Given the description of an element on the screen output the (x, y) to click on. 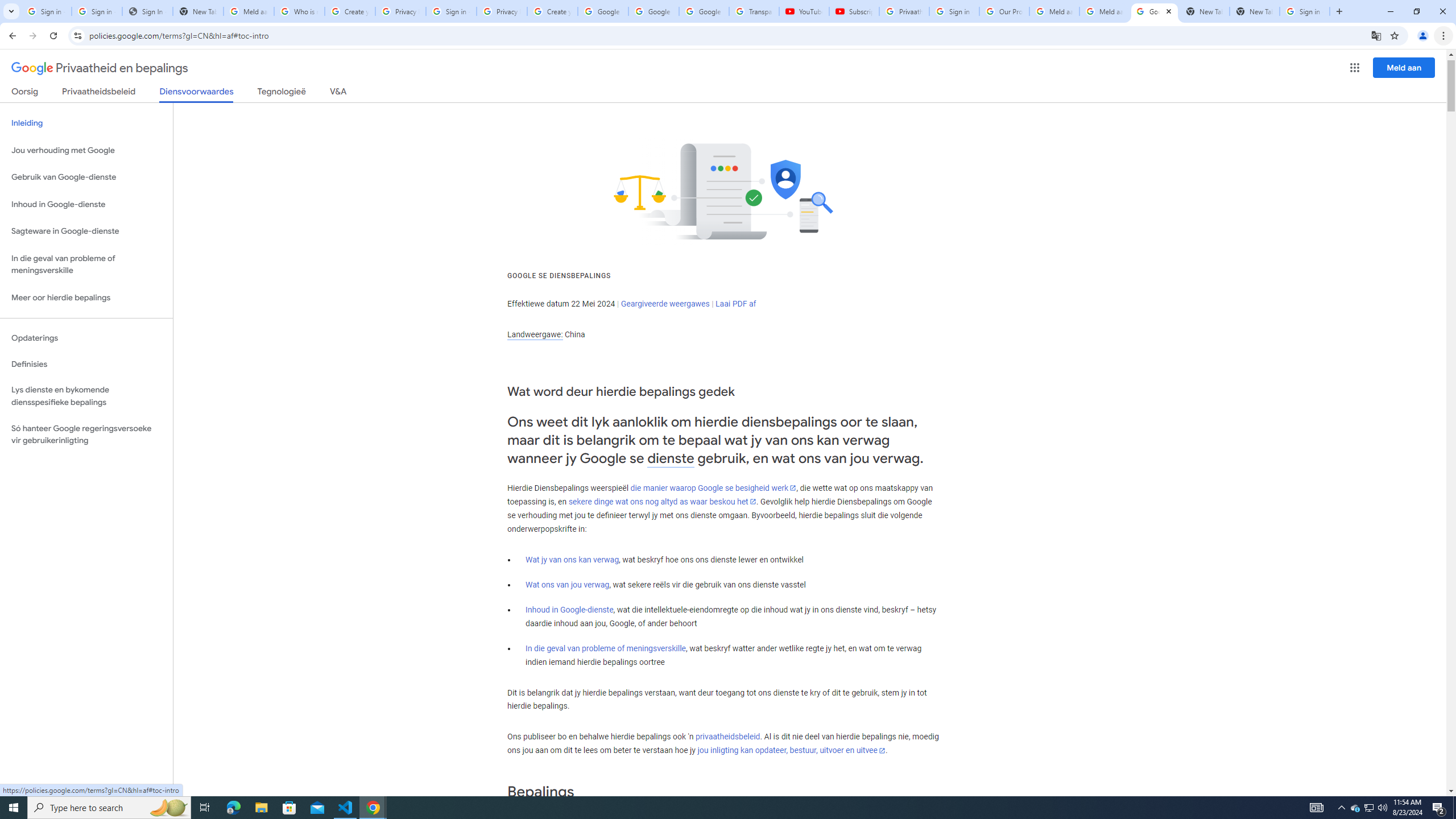
Sign in - Google Accounts (1304, 11)
New Tab (1254, 11)
Create your Google Account (552, 11)
Google Account (703, 11)
Sign in - Google Accounts (450, 11)
Sign in - Google Accounts (97, 11)
Jou verhouding met Google (86, 150)
